Given the description of an element on the screen output the (x, y) to click on. 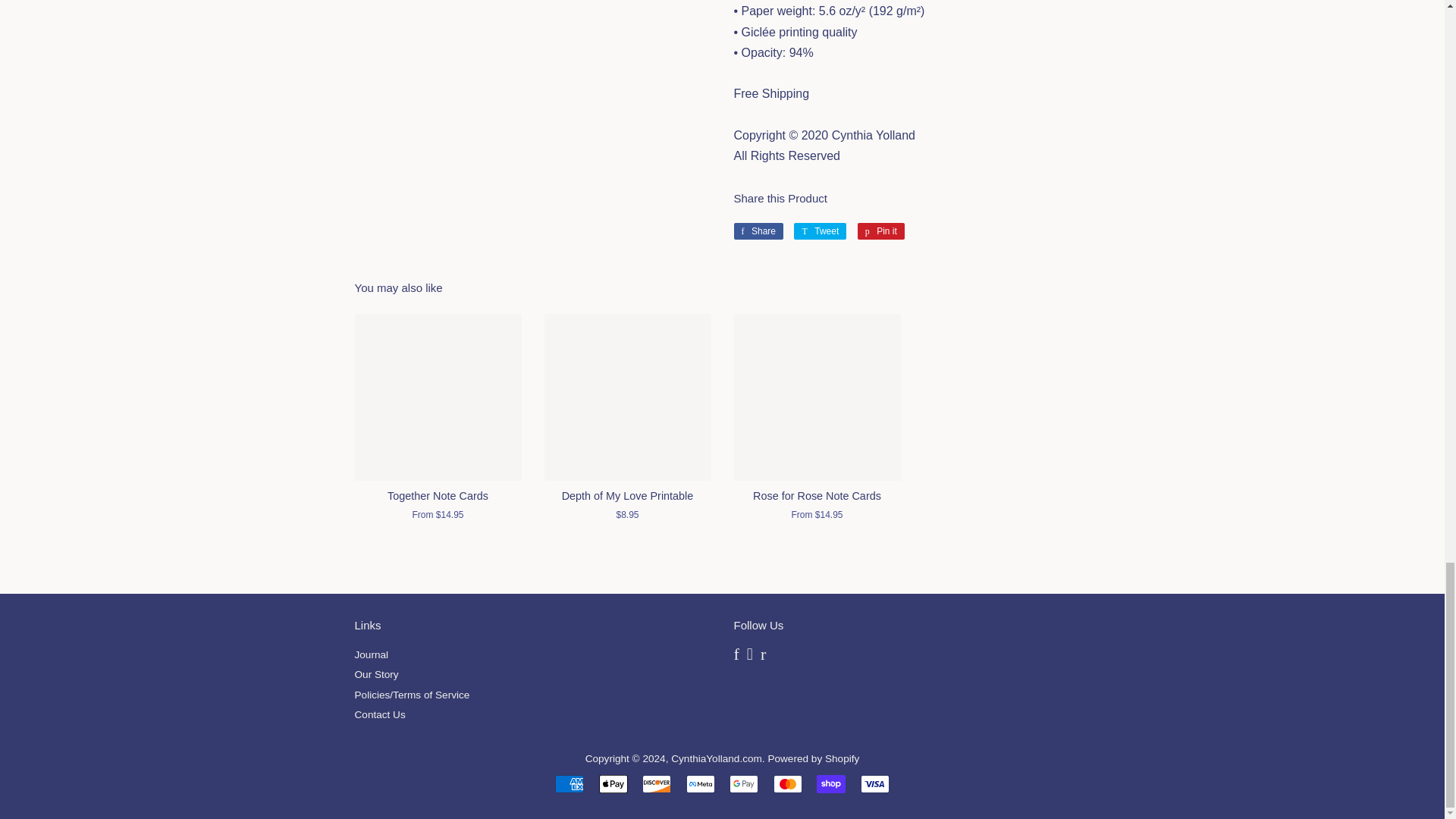
Shop Pay (758, 230)
Mastercard (830, 783)
CynthiaYolland.com on Facebook (787, 783)
CynthiaYolland.com on RSS (736, 655)
CynthiaYolland.com on Instagram (762, 655)
Share on Facebook (749, 655)
Google Pay (758, 230)
American Express (743, 783)
Tweet on Twitter (568, 783)
Visa (819, 230)
Discover (874, 783)
Apple Pay (656, 783)
Meta Pay (612, 783)
